Given the description of an element on the screen output the (x, y) to click on. 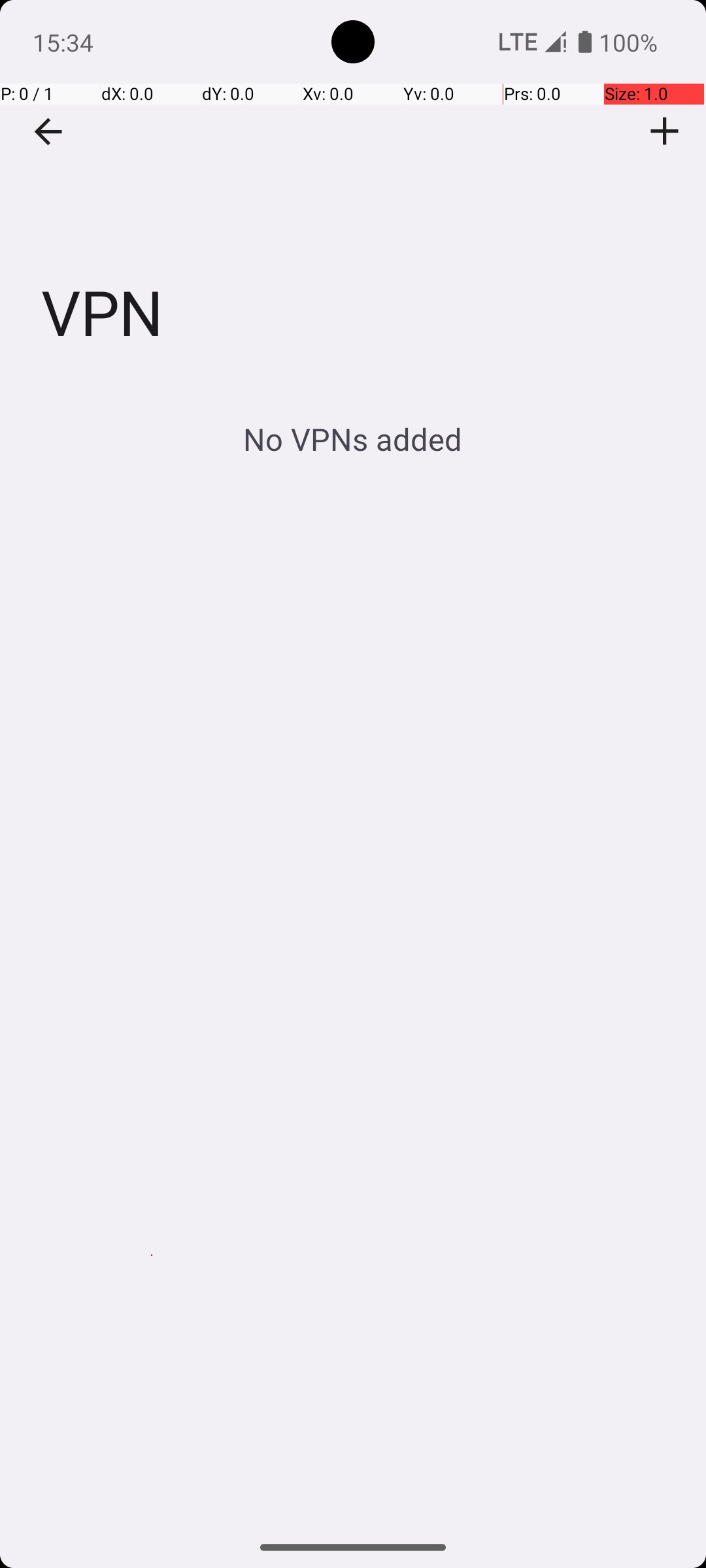
No VPNs added Element type: android.widget.TextView (352, 438)
Add VPN profile Element type: android.widget.TextView (664, 131)
